Given the description of an element on the screen output the (x, y) to click on. 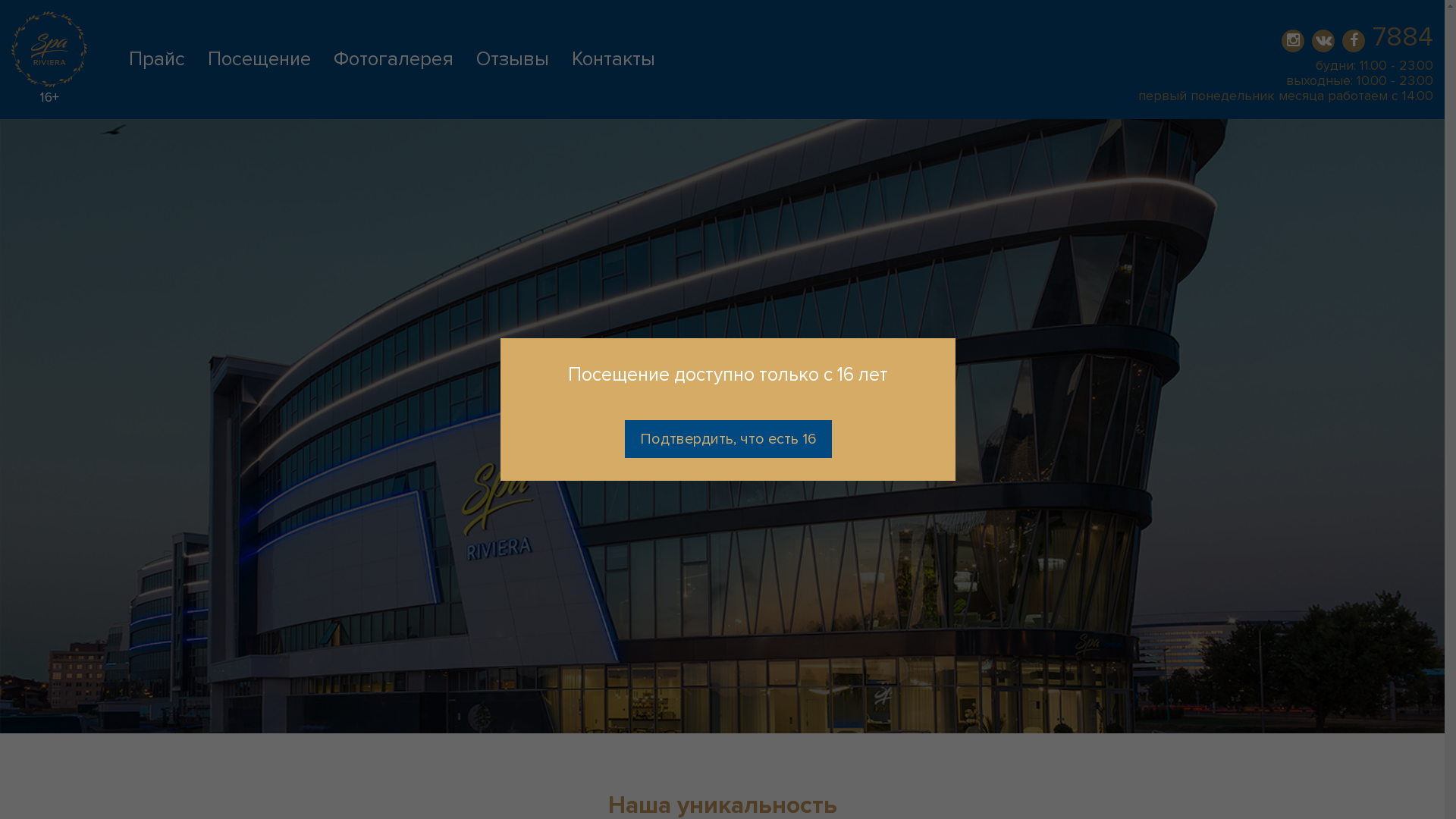
16+ Element type: text (49, 73)
7884 Element type: text (1402, 36)
